Given the description of an element on the screen output the (x, y) to click on. 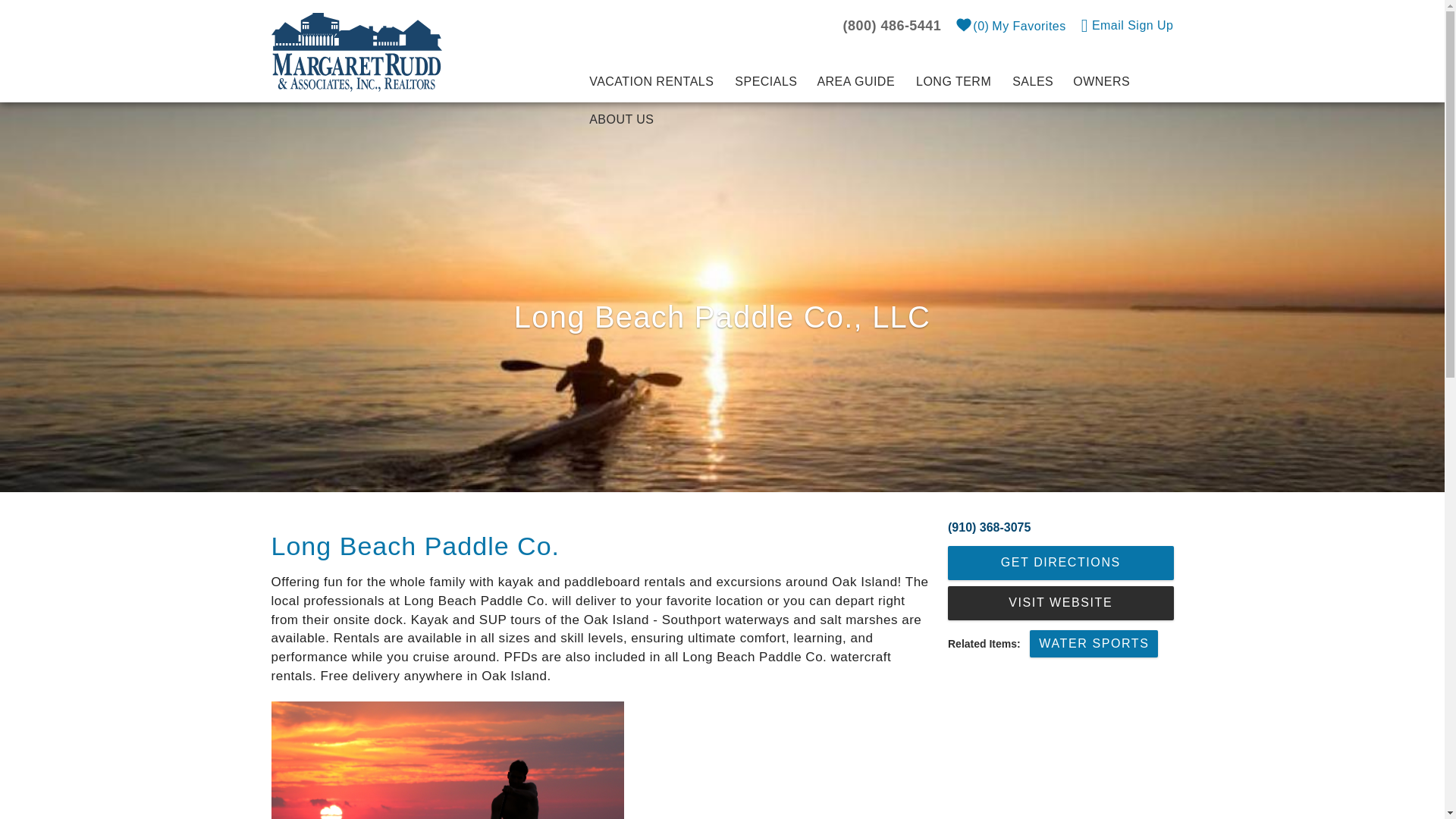
Email Sign Up (1127, 24)
Long Beach Paddle Co. (447, 760)
VACATION RENTALS (652, 83)
Home (356, 51)
